Given the description of an element on the screen output the (x, y) to click on. 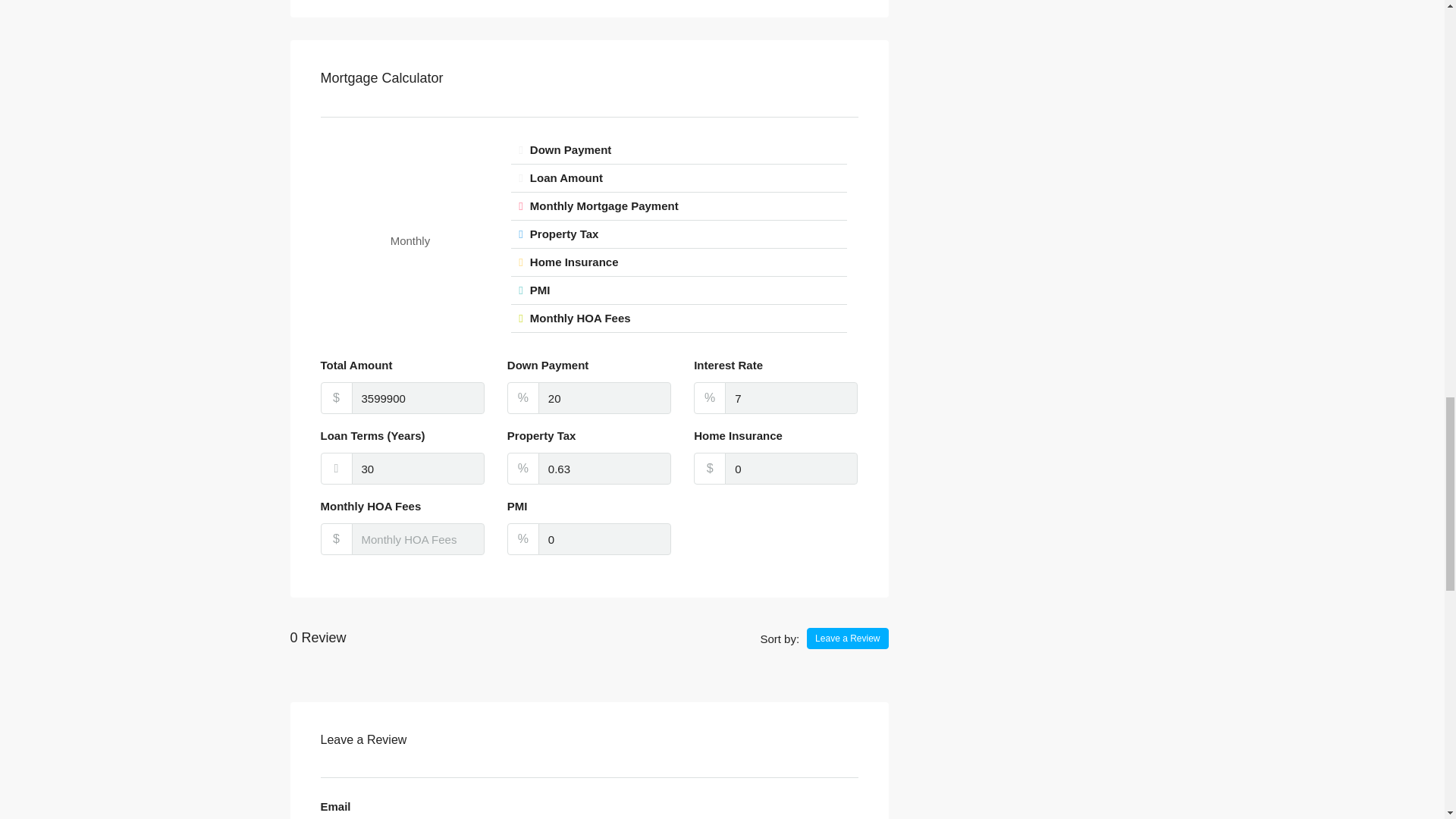
0.63 (604, 468)
0 (791, 468)
20 (604, 398)
30 (418, 468)
7 (791, 398)
3599900 (418, 398)
0 (604, 539)
